Given the description of an element on the screen output the (x, y) to click on. 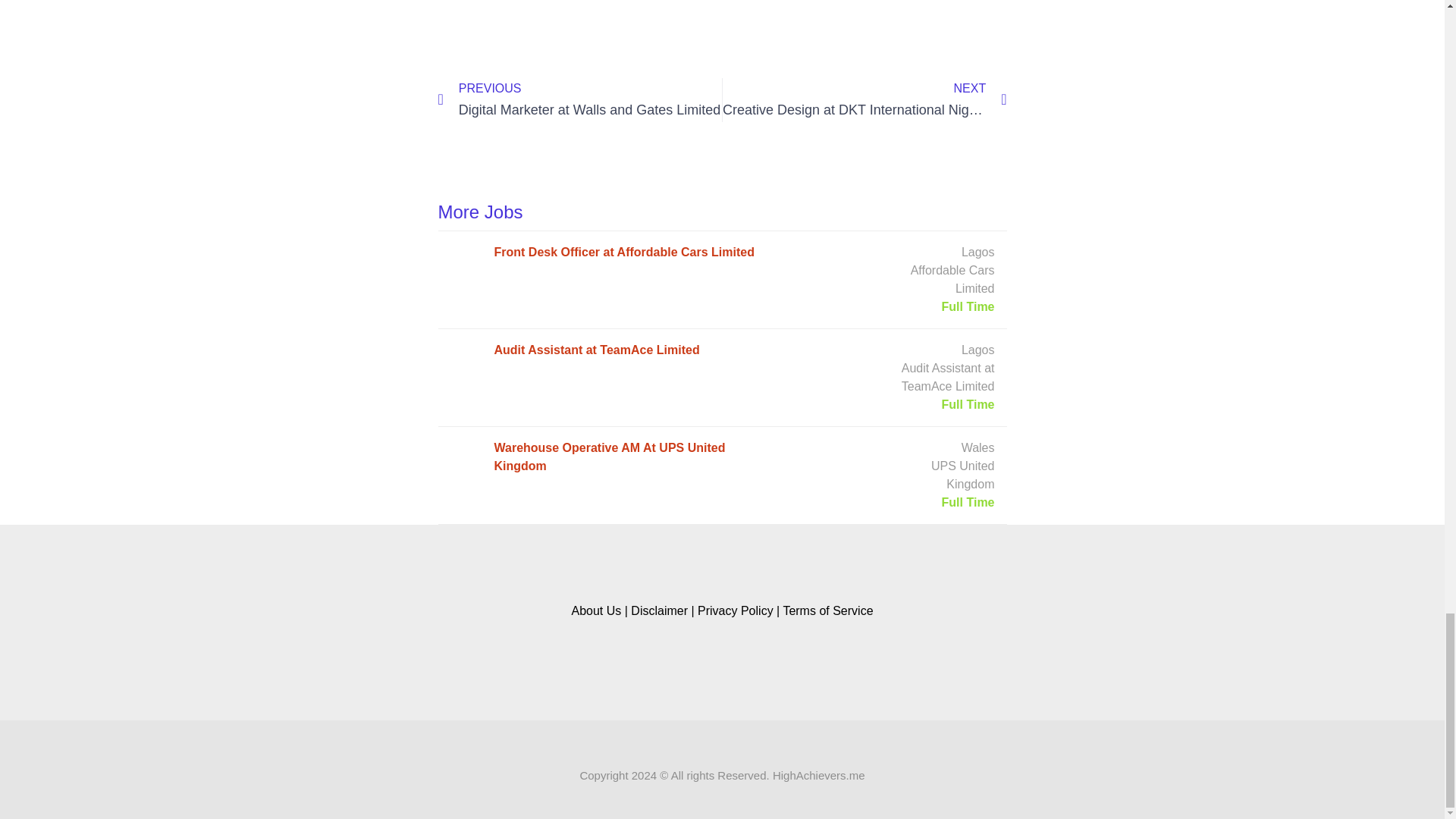
About Us (864, 99)
Privacy Policy (595, 610)
Disclaimer (735, 610)
